Given the description of an element on the screen output the (x, y) to click on. 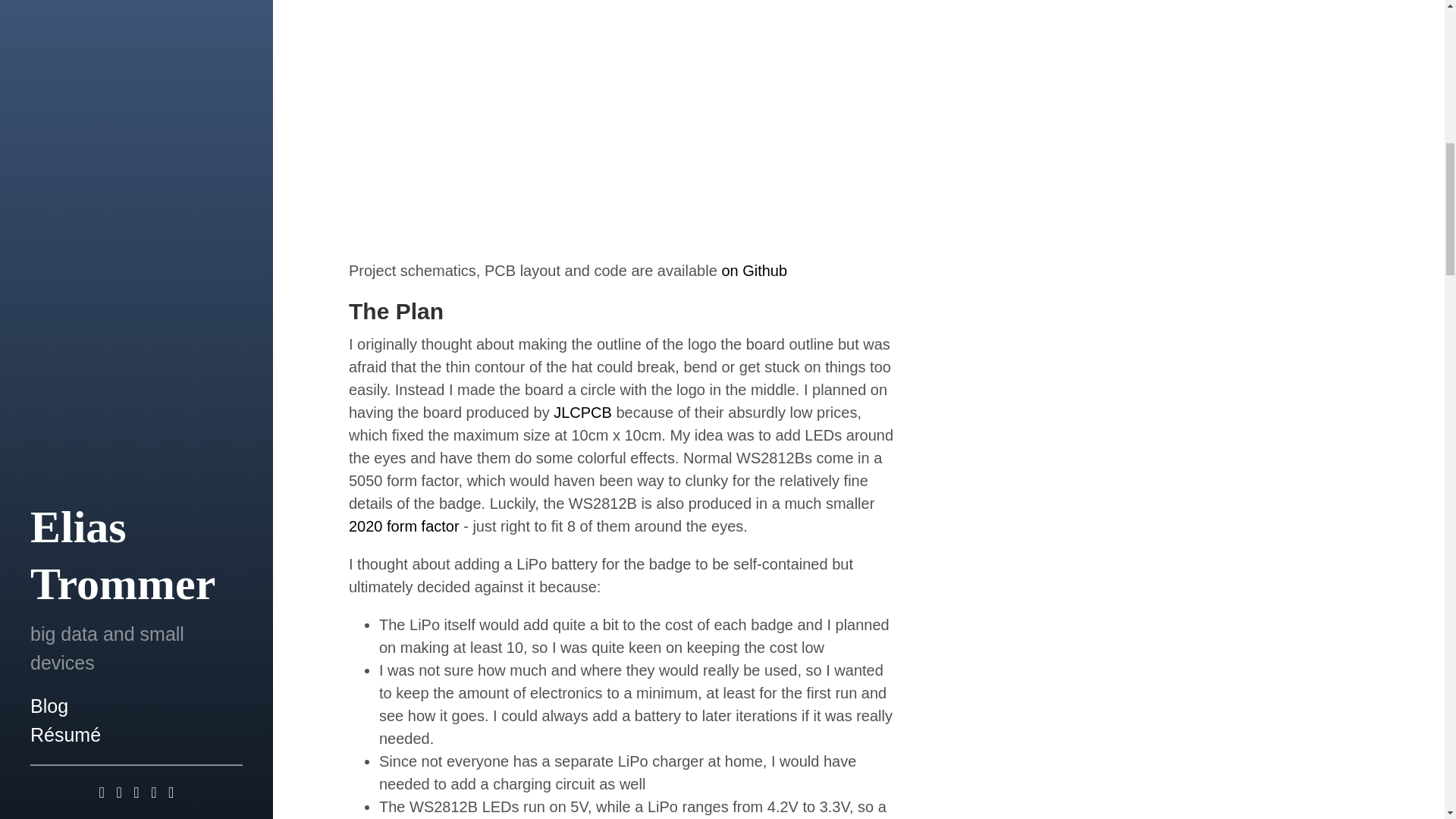
on Github (753, 270)
YouTube video player (561, 133)
2020 form factor (404, 525)
JLCPCB (582, 412)
